Given the description of an element on the screen output the (x, y) to click on. 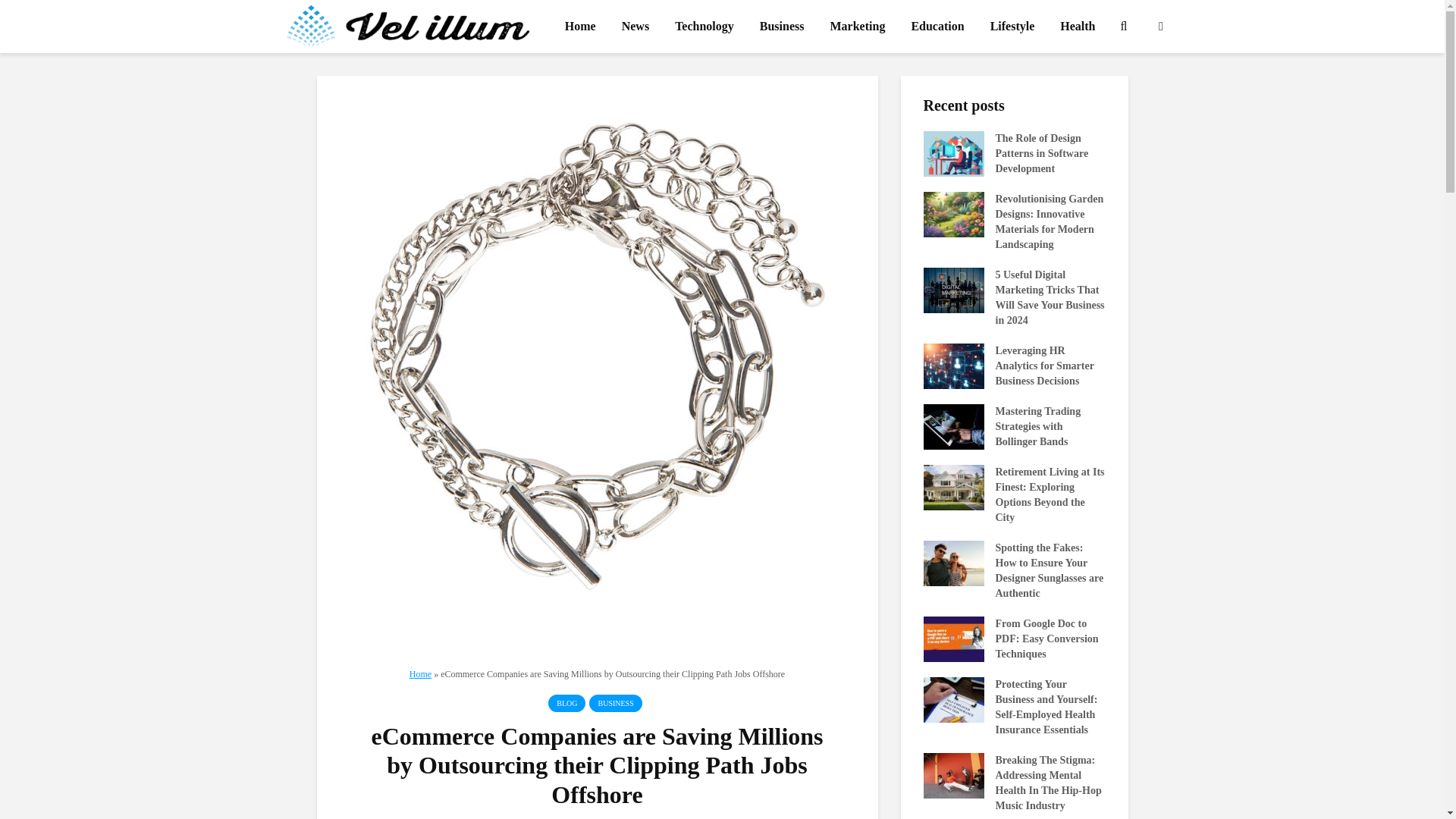
News (635, 26)
The Role of Design Patterns in Software Development (953, 152)
Home (580, 26)
Technology (704, 26)
Health (1077, 26)
Mastering Trading Strategies with Bollinger Bands (953, 425)
Education (937, 26)
Business (781, 26)
BLOG (566, 702)
BUSINESS (615, 702)
From Google Doc to PDF: Easy Conversion Techniques (953, 637)
